Given the description of an element on the screen output the (x, y) to click on. 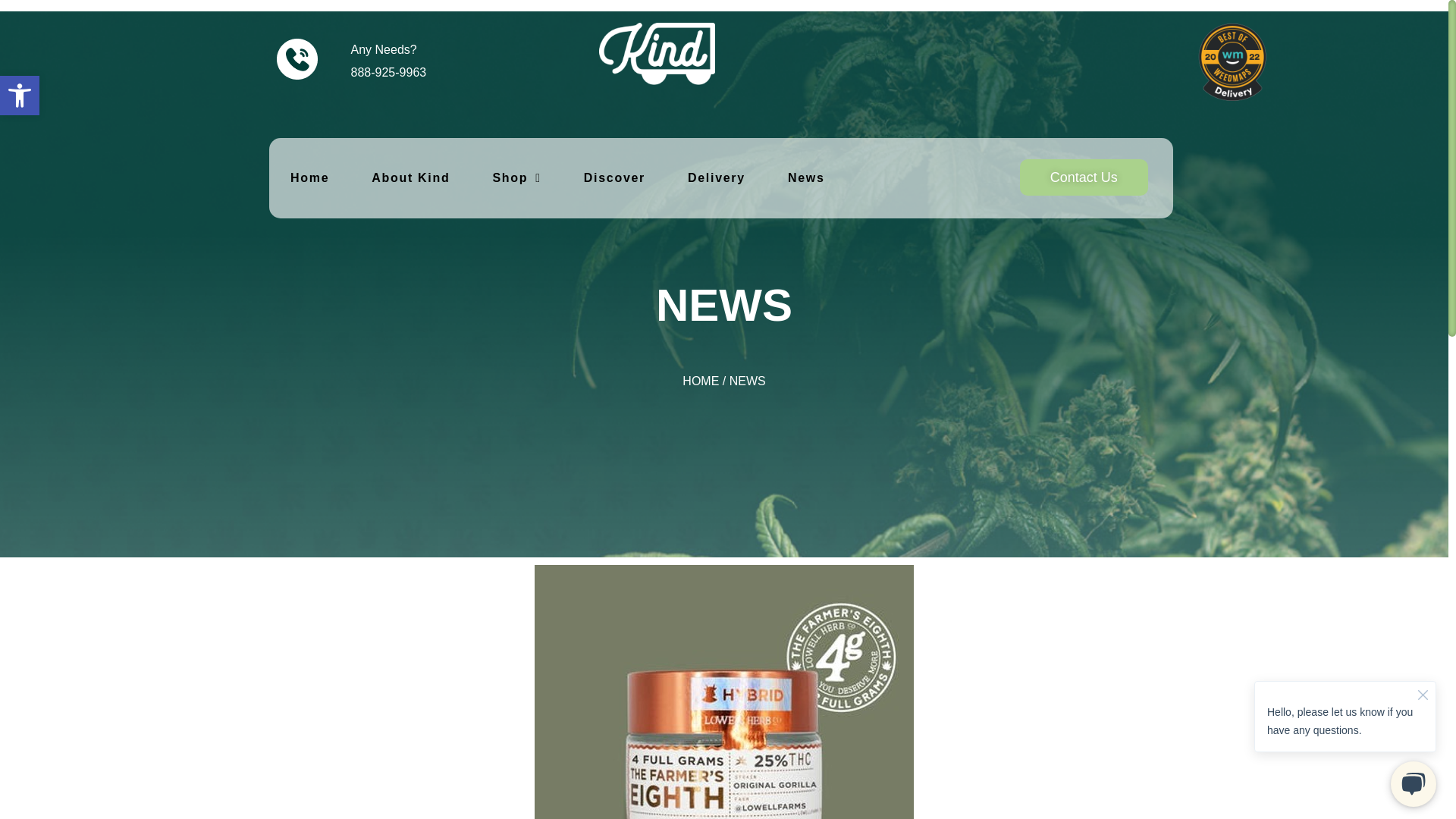
Shop (541, 179)
About Kind (445, 179)
Accessibility Tools (19, 95)
Home (19, 95)
News (347, 179)
Accessibility Tools (804, 177)
Contact Us (19, 95)
Delivery (1090, 176)
Discover (719, 178)
